Given the description of an element on the screen output the (x, y) to click on. 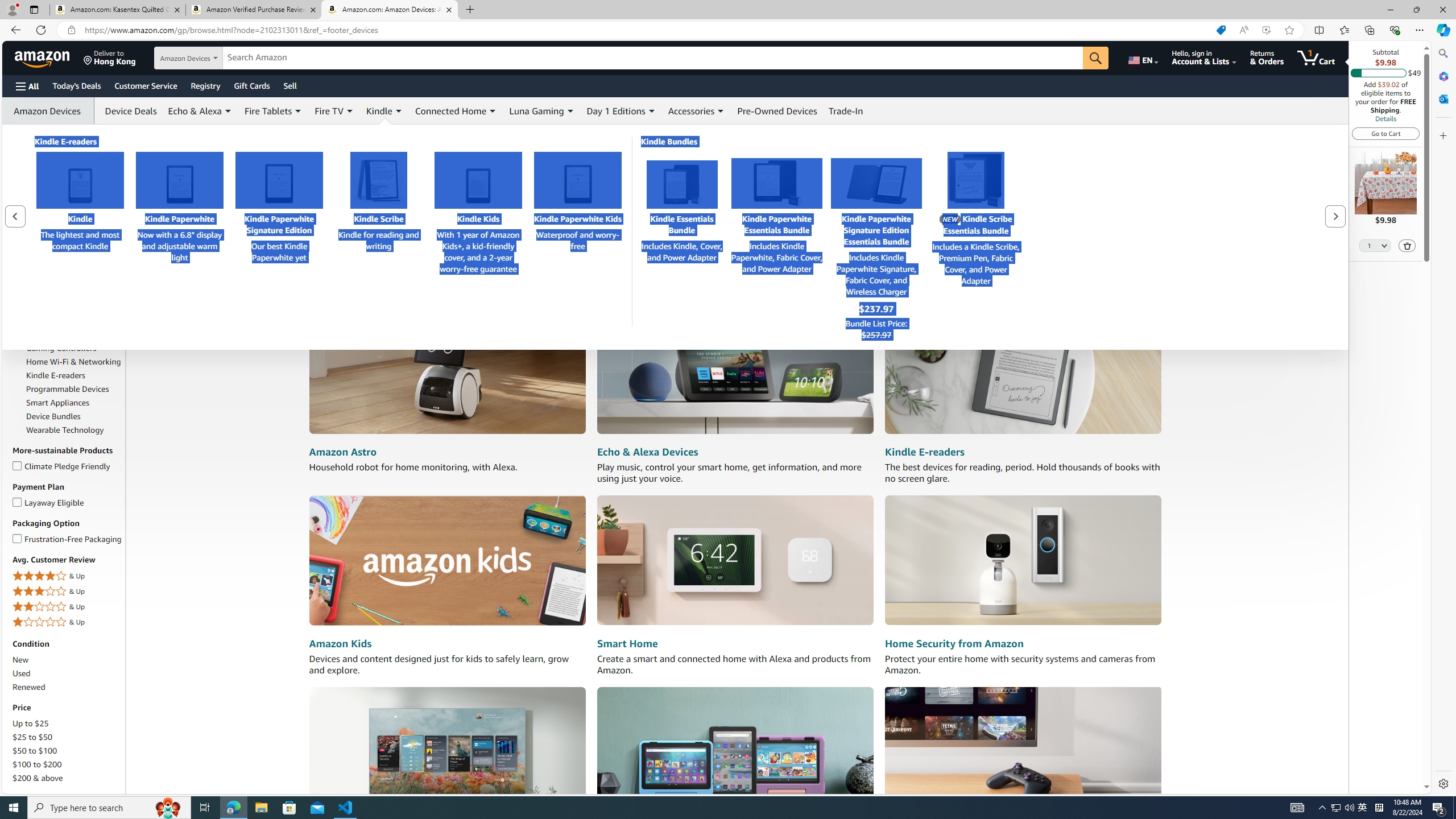
Layaway Eligible Layaway Eligible (48, 502)
Accessories (691, 110)
Last 30 days (67, 154)
Kindle Essentials Bundle (681, 184)
Customer Service (145, 85)
Connected Home (456, 110)
Echo & Alexa (194, 110)
Wearable Technology (74, 429)
Renewed (67, 686)
Used (67, 672)
Go to Cart (1385, 133)
Expand Accessories (720, 111)
Wearable Technology (64, 429)
Used (21, 673)
